Given the description of an element on the screen output the (x, y) to click on. 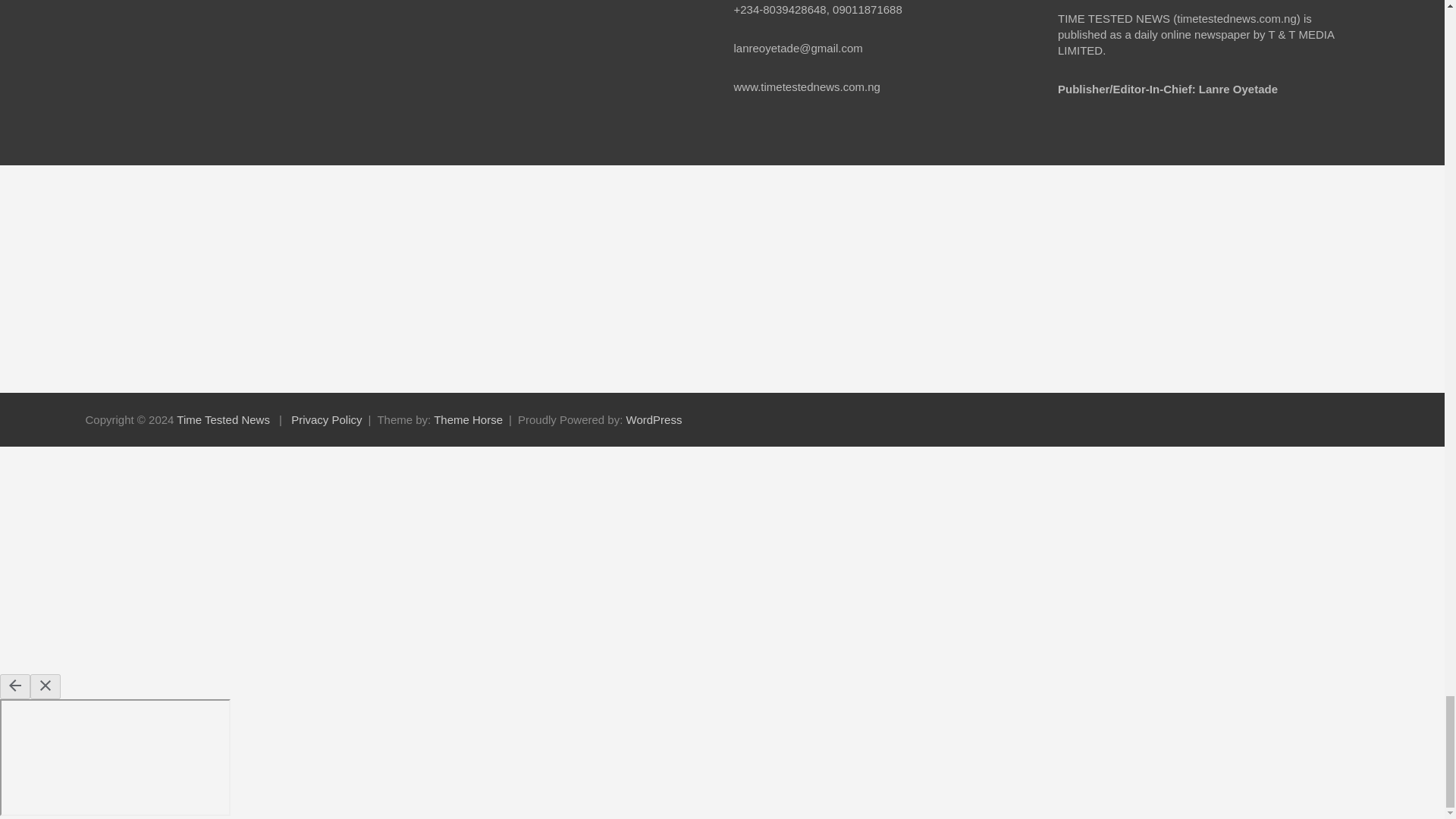
WordPress (654, 418)
Time Tested News (222, 418)
Theme Horse (467, 418)
